Given the description of an element on the screen output the (x, y) to click on. 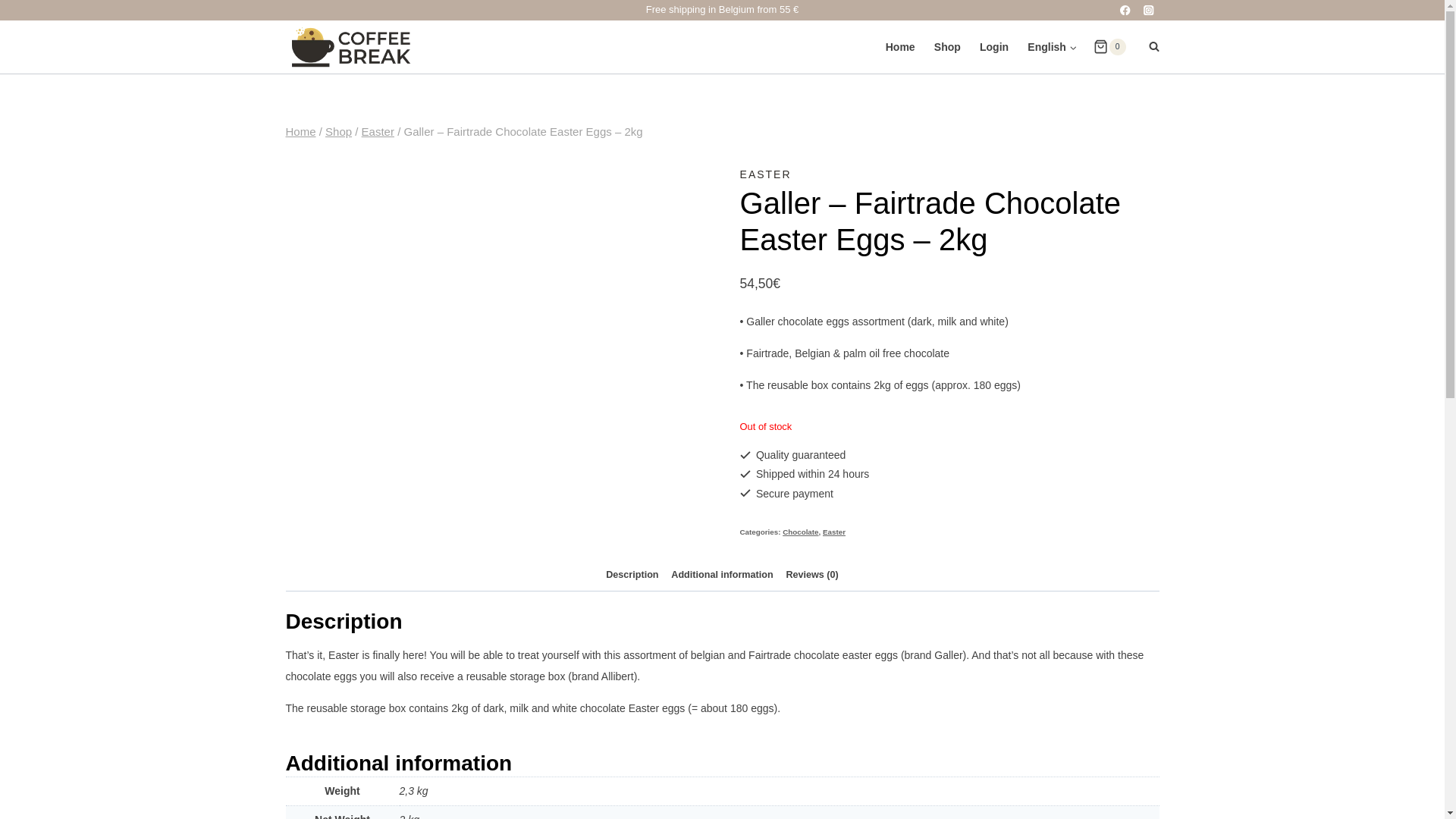
EASTER Element type: text (765, 174)
Login Element type: text (993, 46)
Description Element type: text (631, 574)
Additional information Element type: text (721, 574)
English Element type: text (1052, 46)
Home Element type: text (300, 131)
Shop Element type: text (946, 46)
Easter Element type: text (377, 131)
Reviews (0) Element type: text (811, 574)
Home Element type: text (899, 46)
0 Element type: text (1109, 46)
Chocolate Element type: text (800, 531)
Easter Element type: text (833, 531)
Shop Element type: text (338, 131)
